Given the description of an element on the screen output the (x, y) to click on. 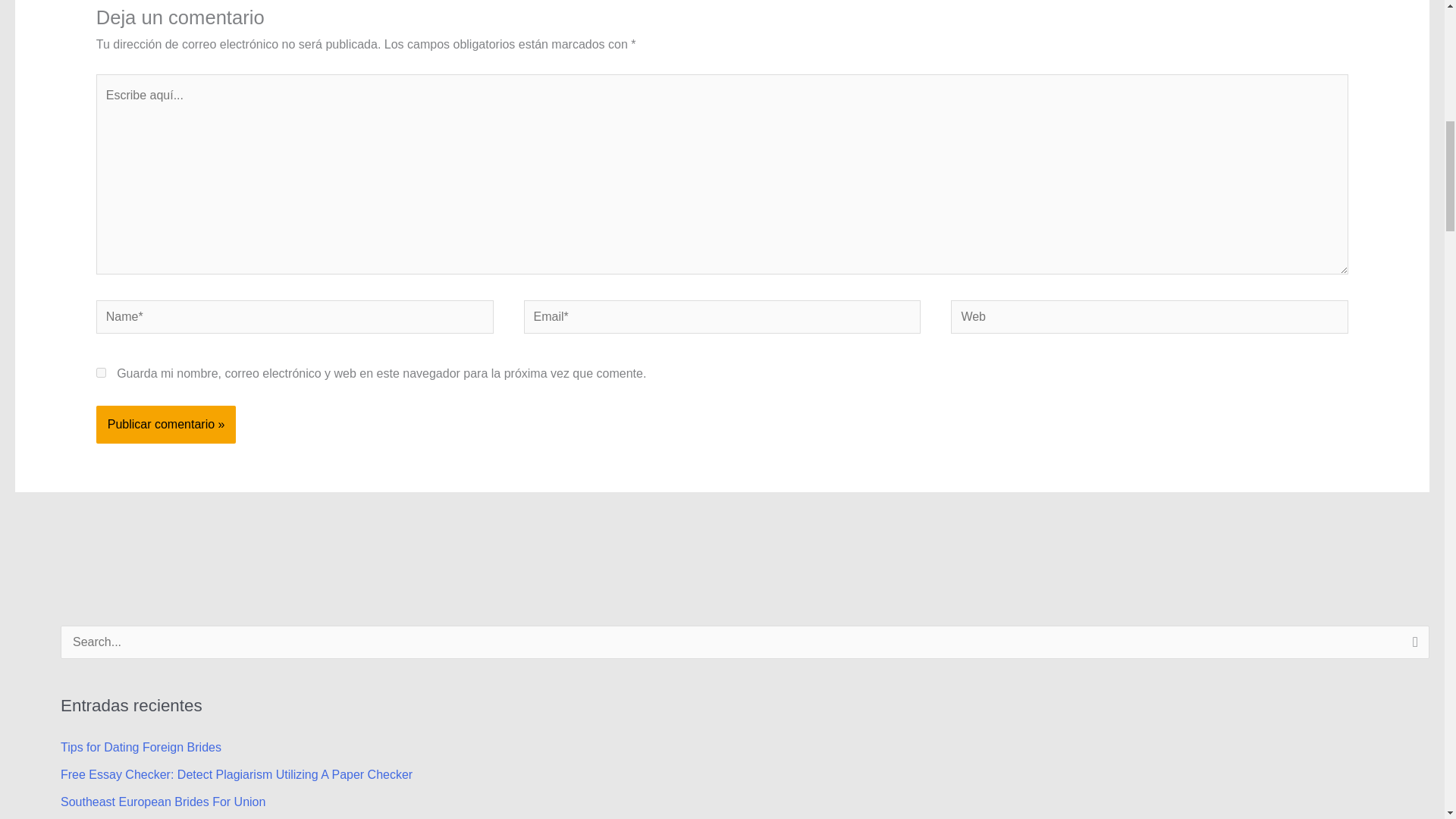
yes (101, 372)
Tips for Dating Foreign Brides (141, 747)
Southeast European Brides For Union (162, 801)
